Given the description of an element on the screen output the (x, y) to click on. 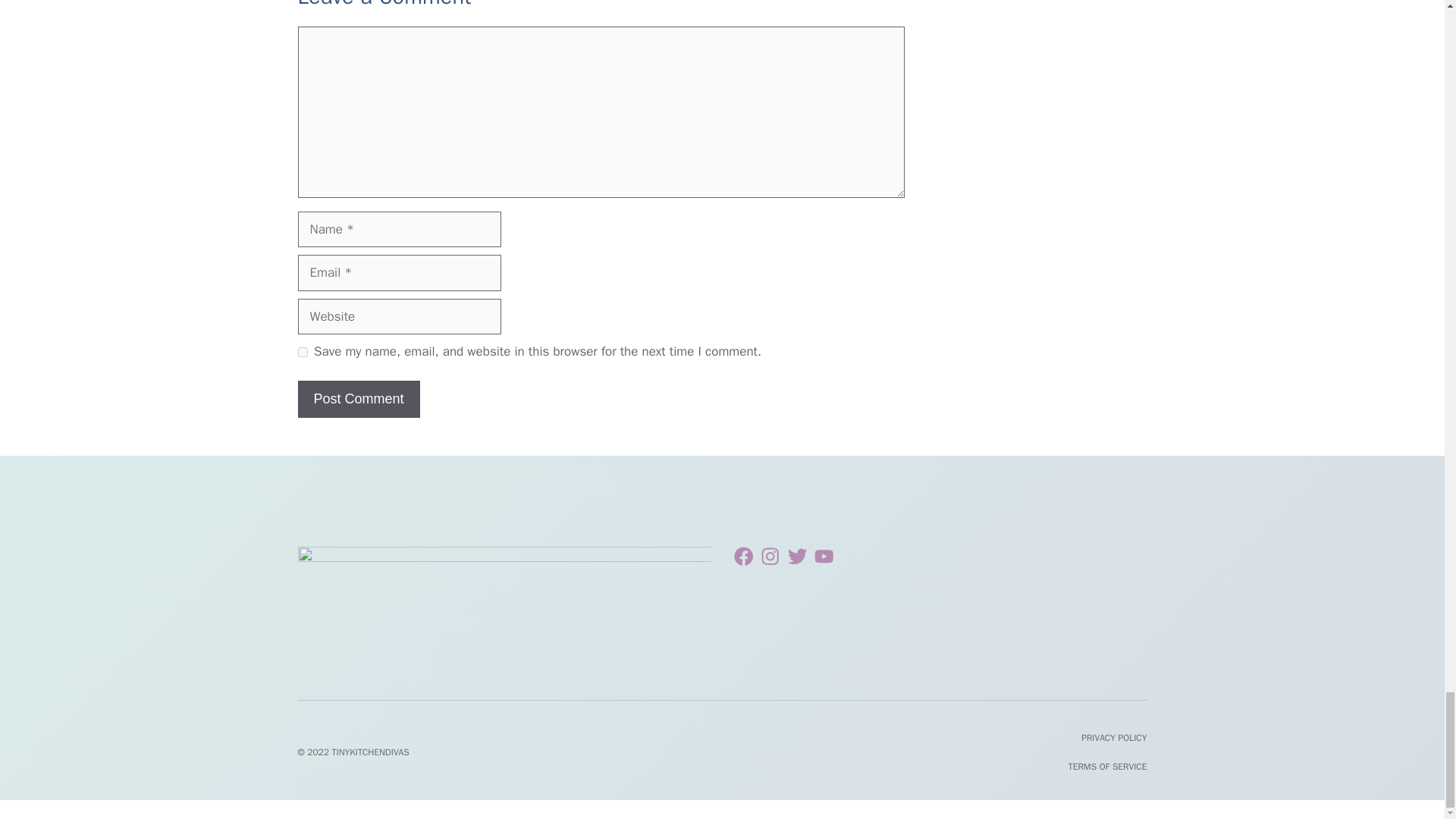
Post Comment (358, 398)
yes (302, 352)
